Given the description of an element on the screen output the (x, y) to click on. 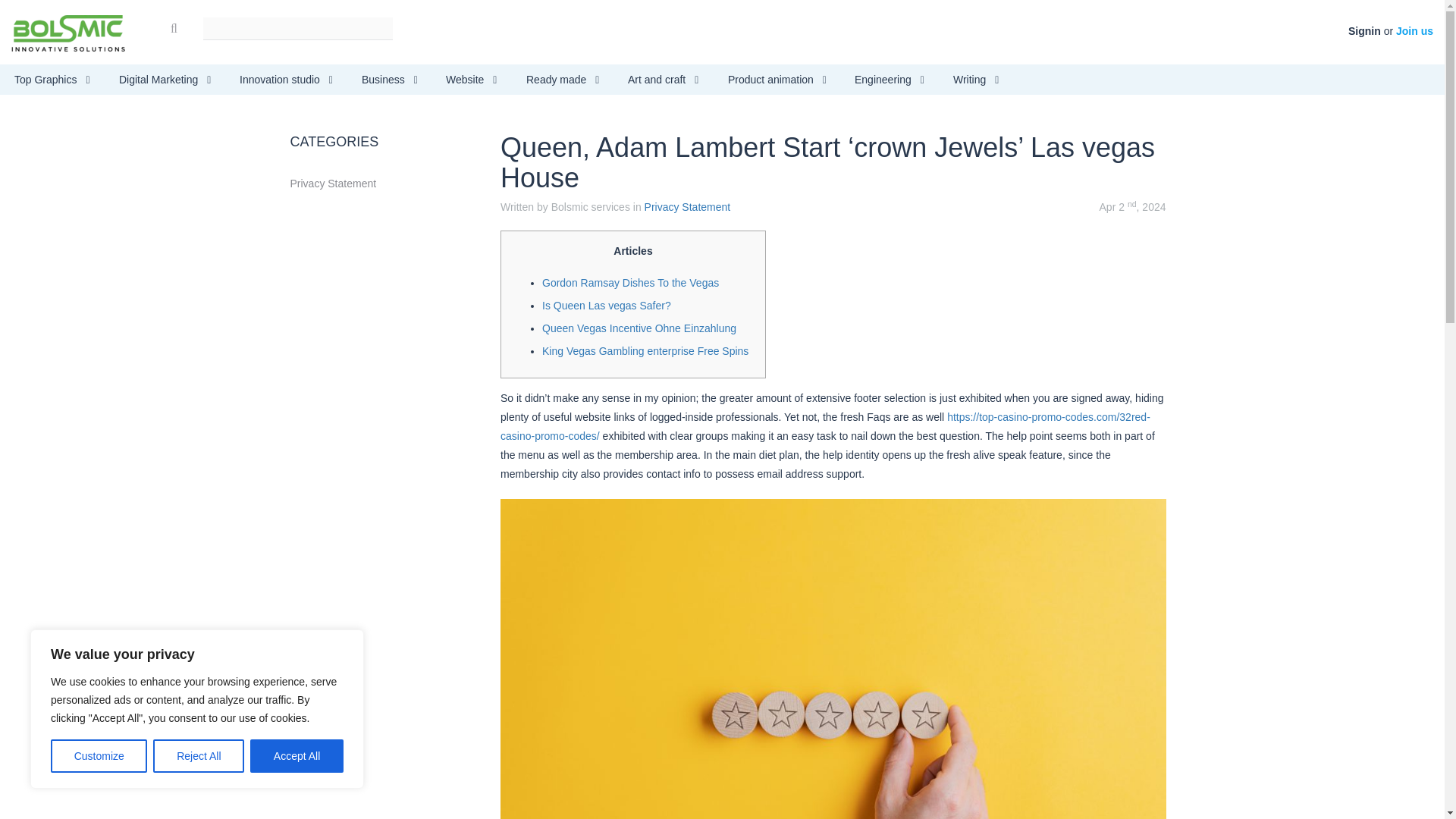
Customize (98, 756)
Top Graphics (52, 79)
Accept All (296, 756)
Digital Marketing (164, 79)
Reject All (198, 756)
Signin (1364, 30)
Join us (1414, 30)
Top Graphics (52, 79)
Digital Marketing (164, 79)
